Given the description of an element on the screen output the (x, y) to click on. 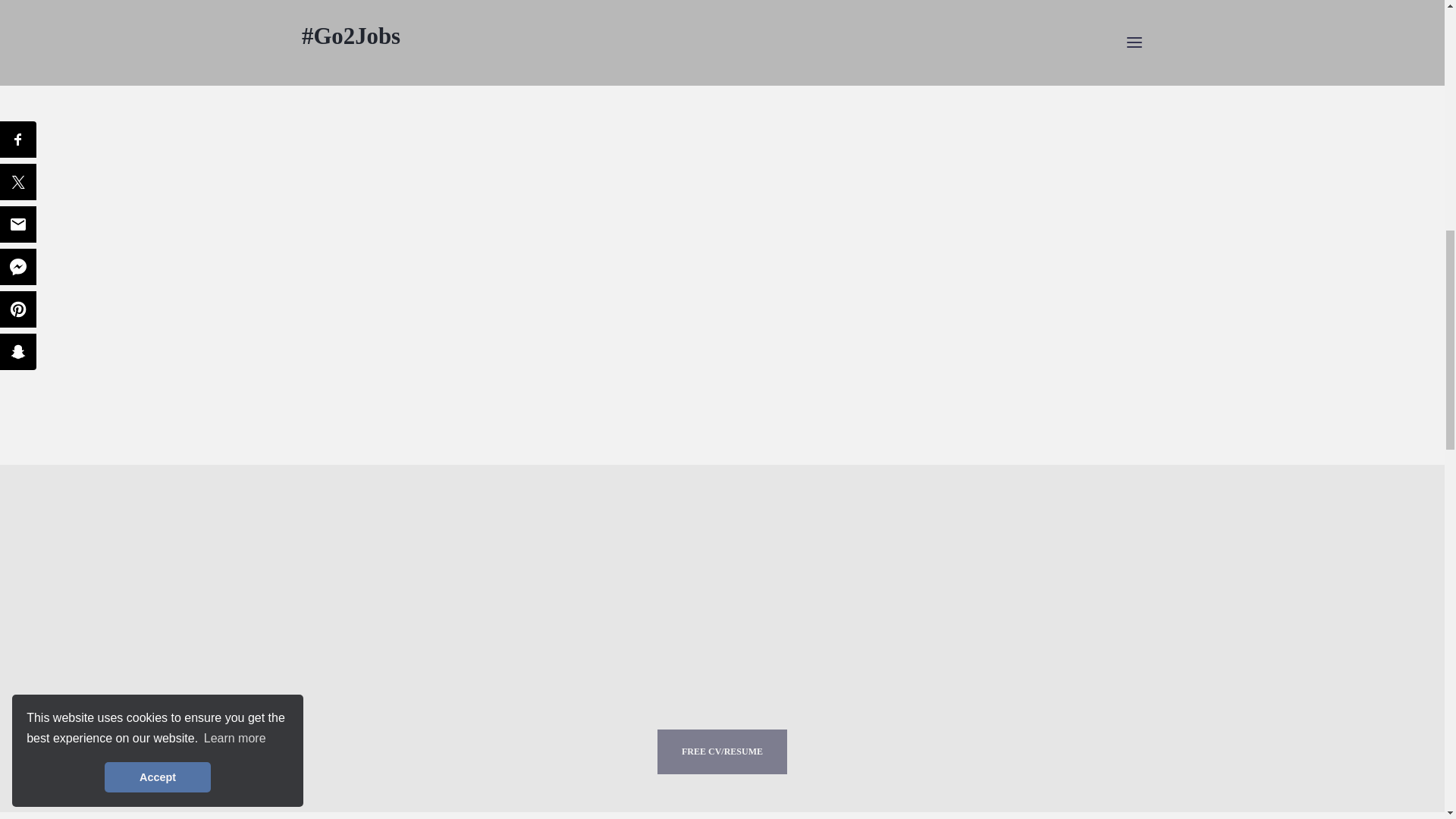
Free CV in West Midlands (722, 751)
Advertisement (721, 45)
